Given the description of an element on the screen output the (x, y) to click on. 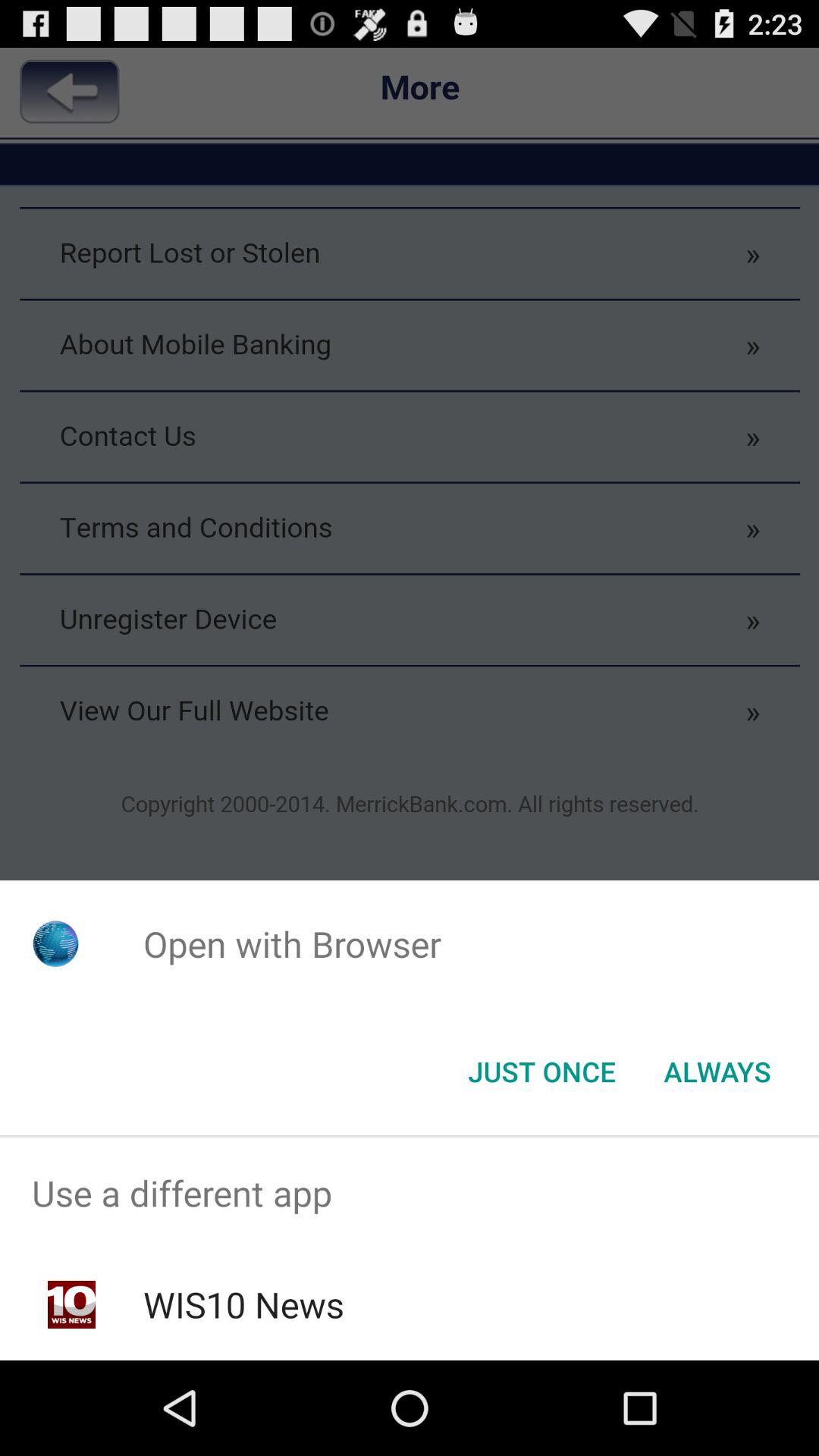
select use a different app (409, 1192)
